Given the description of an element on the screen output the (x, y) to click on. 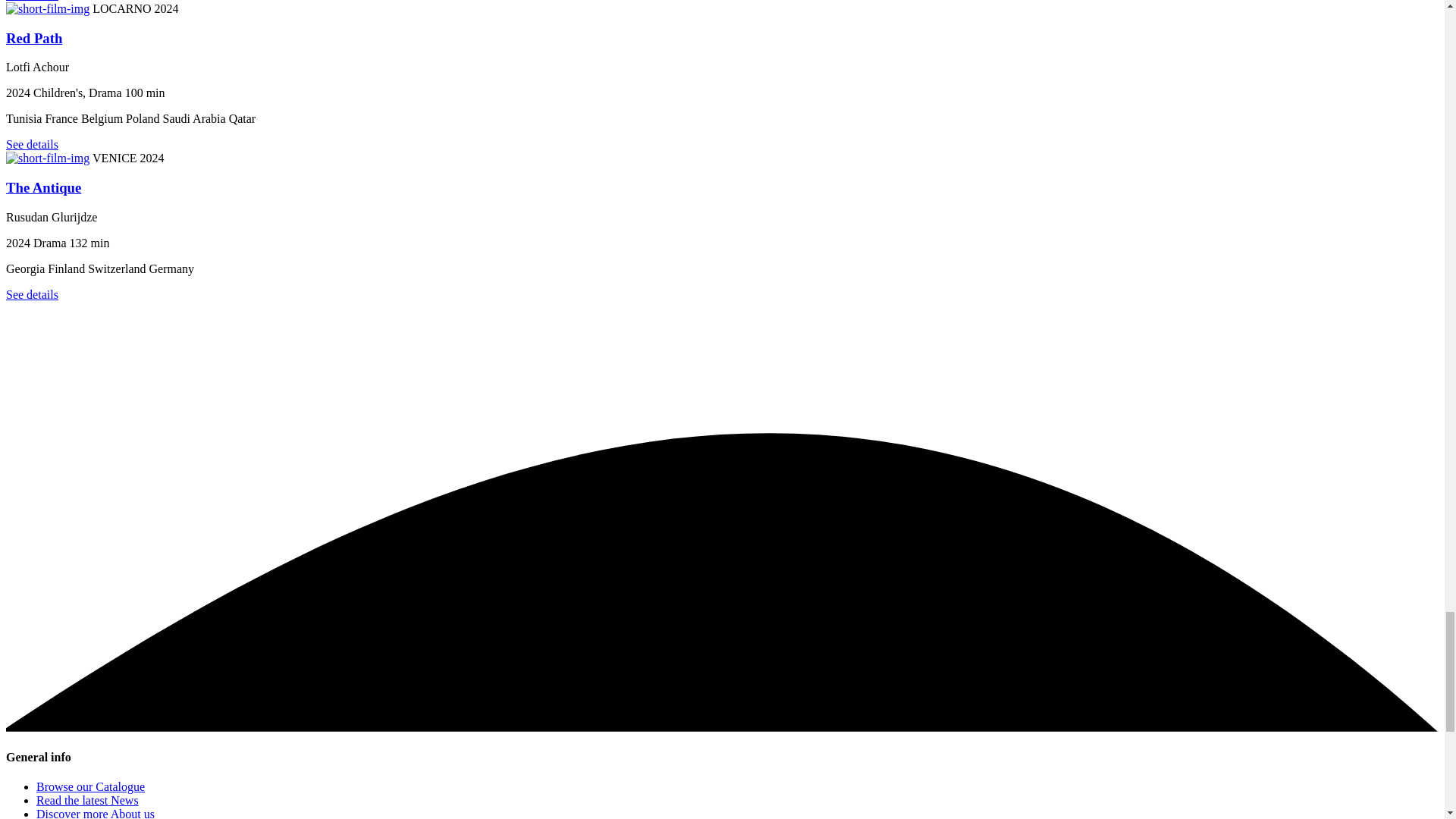
Red Path (33, 37)
The Antique (43, 187)
See details (31, 294)
See details (31, 144)
See details (31, 0)
